Given the description of an element on the screen output the (x, y) to click on. 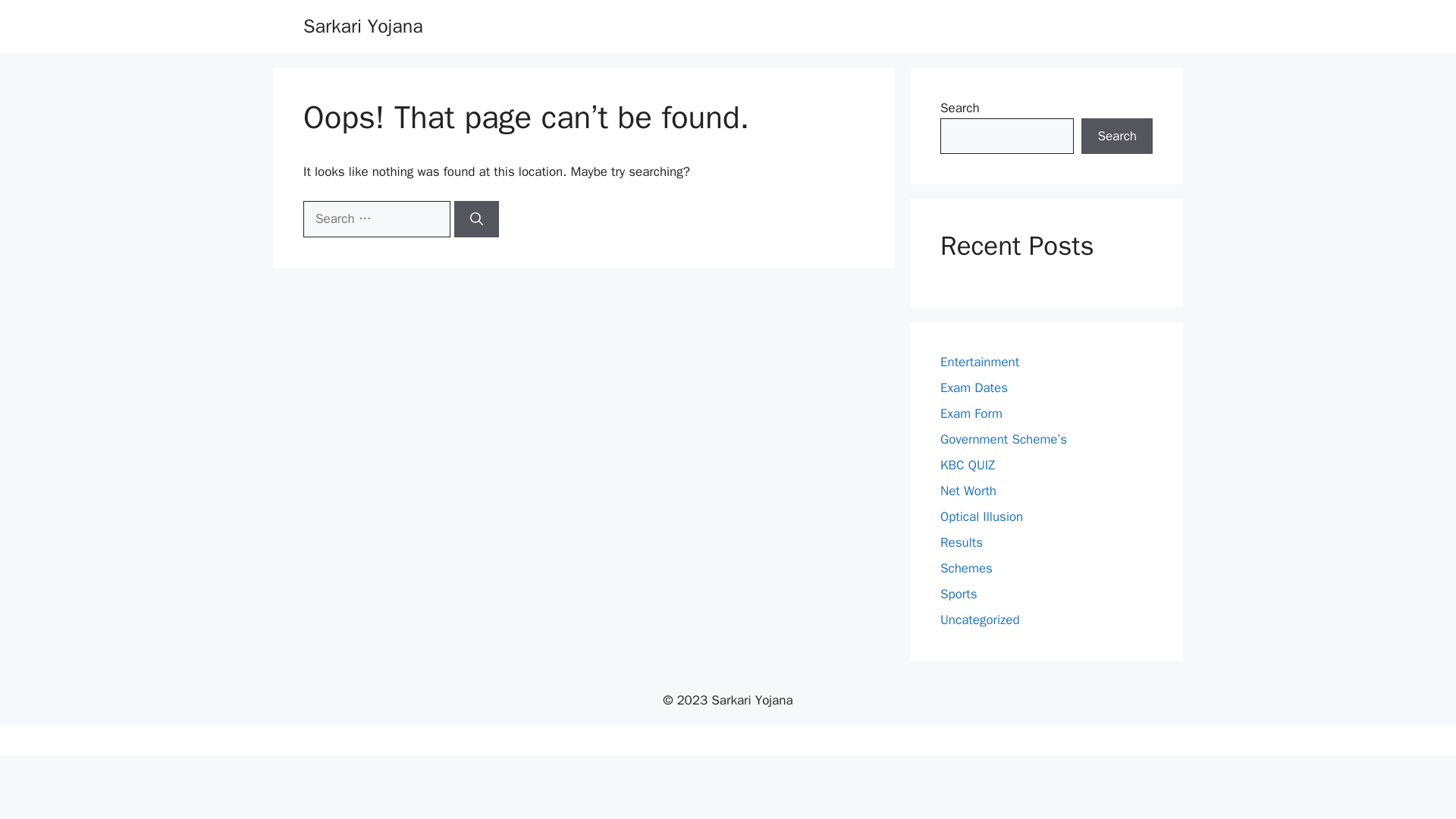
Exam Dates (973, 387)
Results (961, 542)
Optical Illusion (981, 516)
Search for: (375, 218)
Schemes (966, 568)
Exam Form (971, 413)
Entertainment (979, 361)
Uncategorized (980, 619)
Search (1117, 135)
Sports (958, 593)
KBC QUIZ (967, 465)
Sarkari Yojana (362, 25)
Net Worth (967, 490)
